Given the description of an element on the screen output the (x, y) to click on. 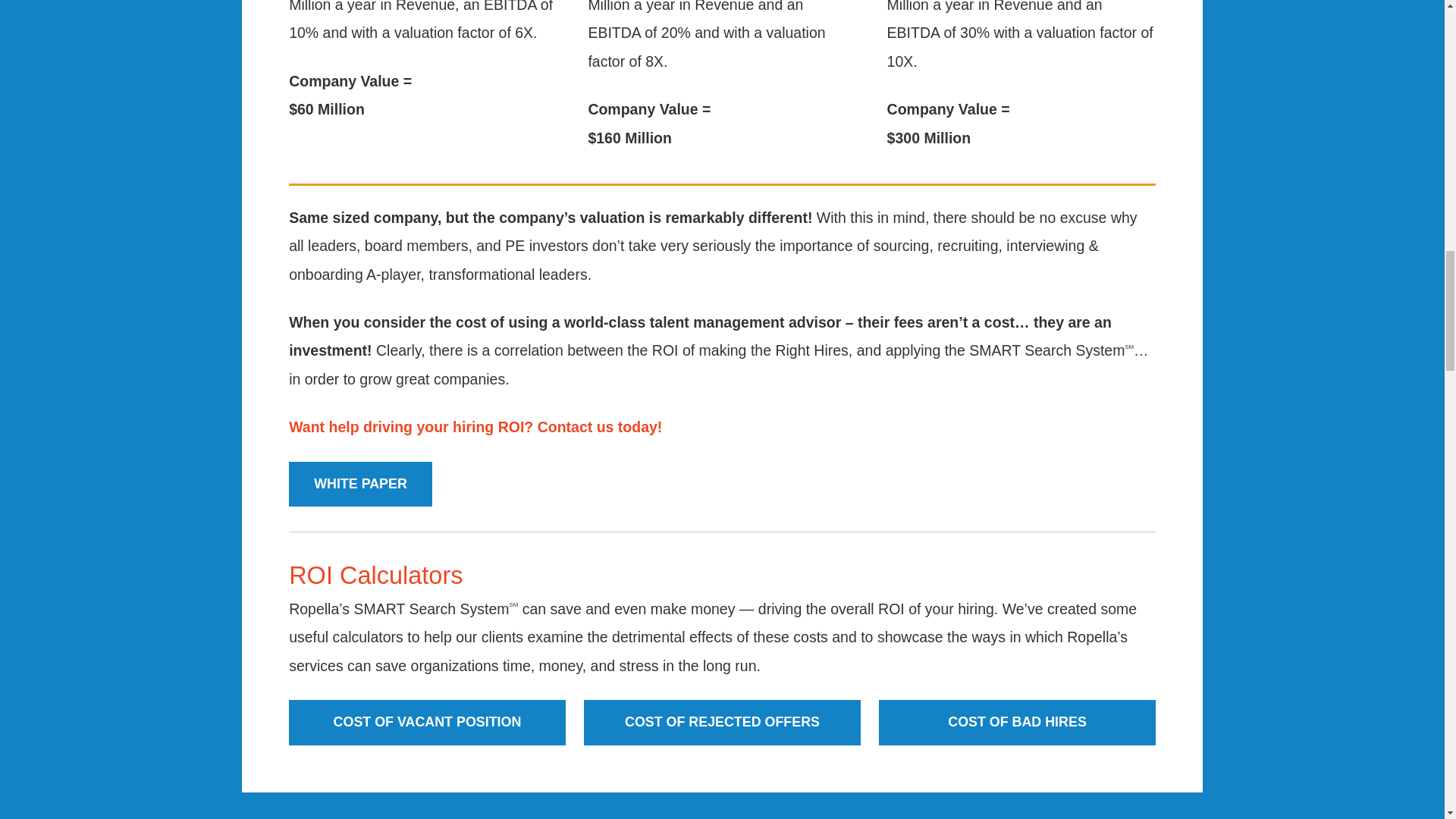
COST OF BAD HIRES (1017, 722)
COST OF VACANT POSITION (427, 722)
COST OF REJECTED OFFERS (721, 722)
Want help driving your hiring ROI? Contact us today! (475, 426)
WHITE PAPER (360, 483)
